Given the description of an element on the screen output the (x, y) to click on. 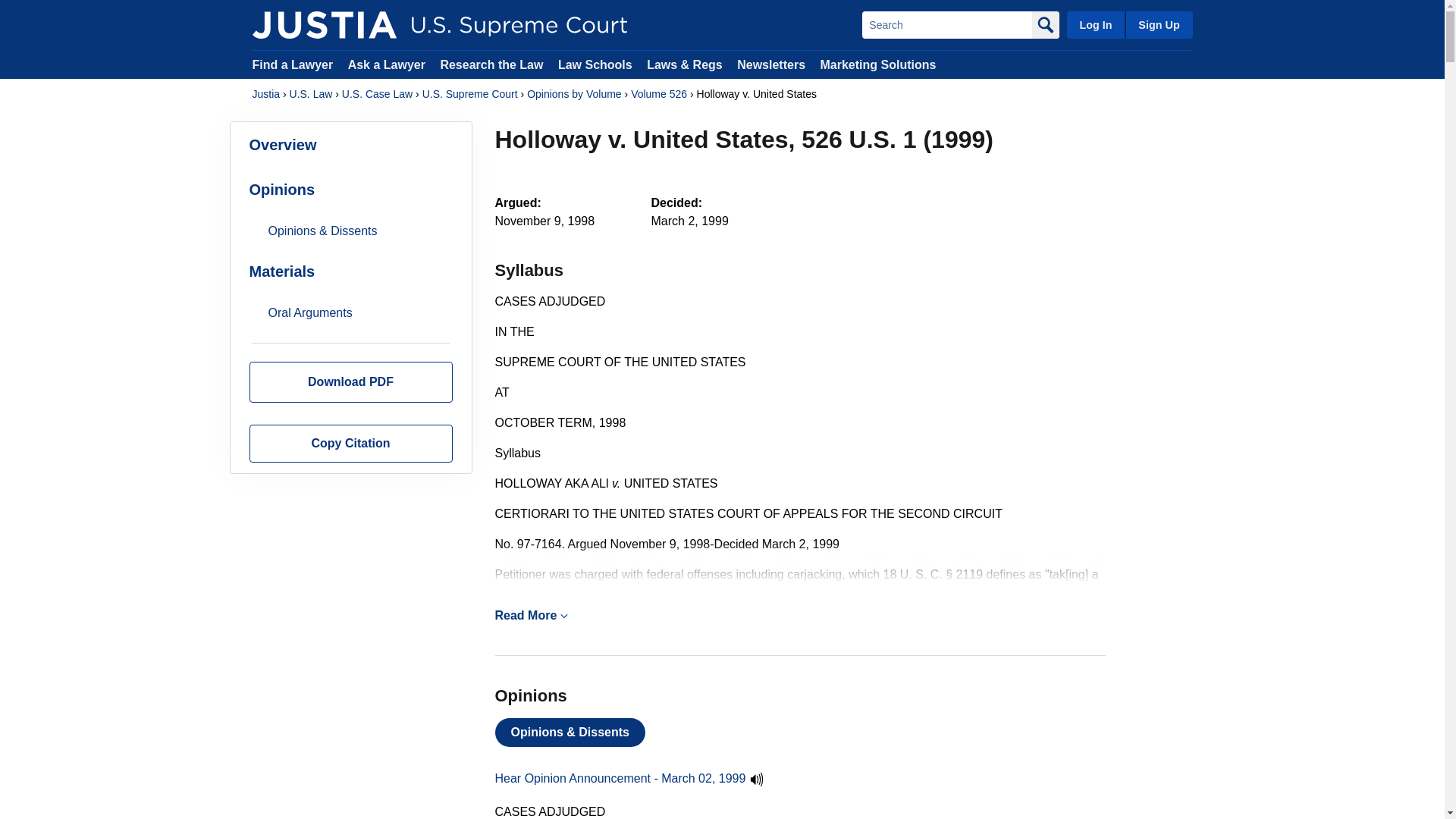
Newsletters (770, 64)
Law Schools (594, 64)
U.S. Supreme Court (470, 93)
Search (945, 24)
U.S. Case Law (377, 93)
Research the Law (491, 64)
Read More (800, 615)
Marketing Solutions (877, 64)
Justia (265, 93)
Ask a Lawyer (388, 64)
Sign Up (1158, 24)
U.S. Law (311, 93)
Volume 526 (658, 93)
Log In (1094, 24)
Justia (323, 24)
